Given the description of an element on the screen output the (x, y) to click on. 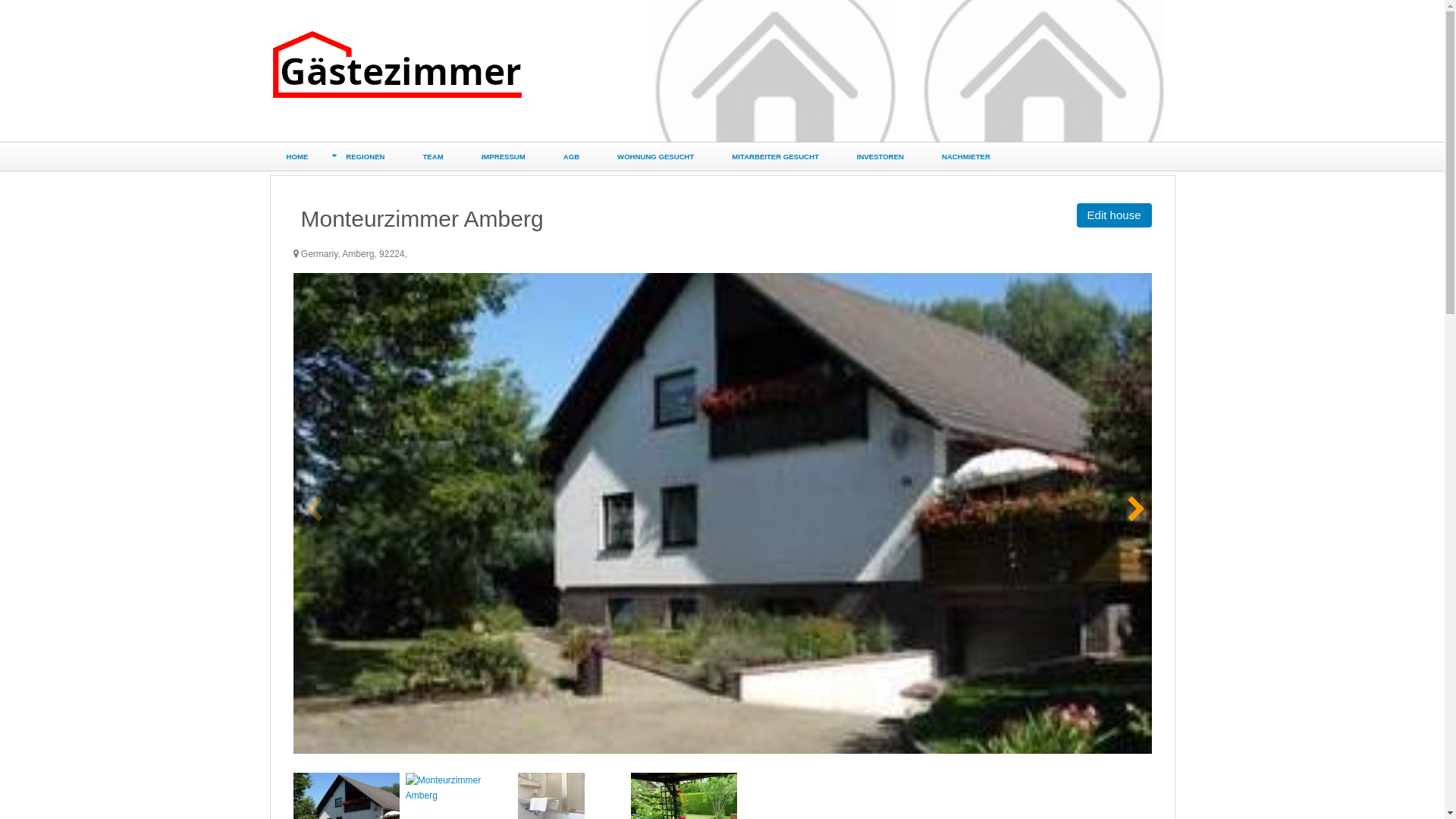
TEAM Element type: text (432, 156)
IMPRESSUM Element type: text (503, 156)
HOME Element type: text (296, 156)
INVESTOREN Element type: text (879, 156)
AGB Element type: text (571, 156)
NACHMIETER Element type: text (965, 156)
REGIONEN Element type: text (364, 156)
WOHNUNG GESUCHT Element type: text (655, 156)
Edit house Element type: text (1113, 215)
Monteurzimmer Amberg Element type: hover (458, 787)
photo Element type: hover (721, 513)
MITARBEITER GESUCHT Element type: text (774, 156)
